Given the description of an element on the screen output the (x, y) to click on. 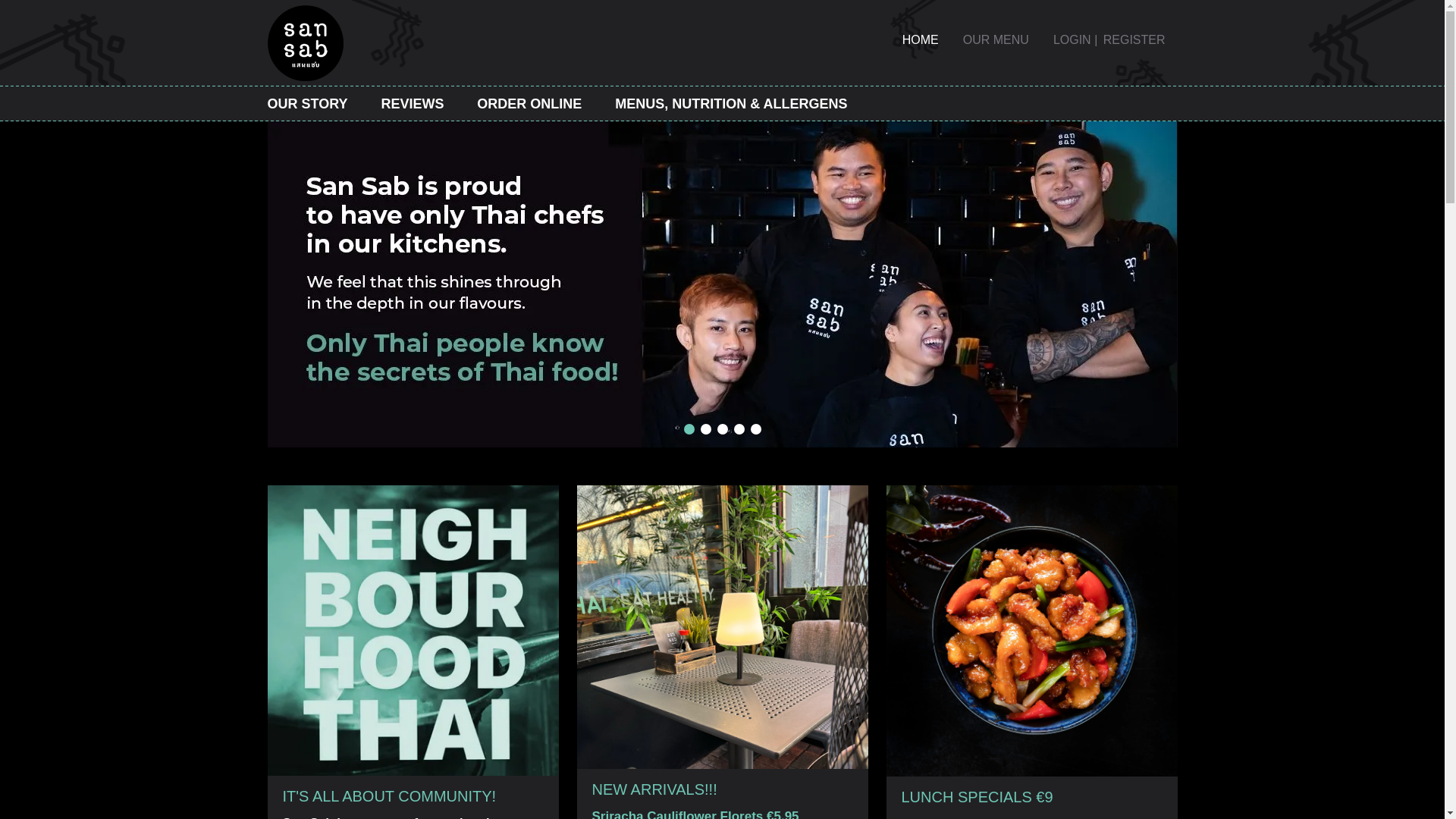
San Sab (304, 42)
ORDER ONLINE (528, 103)
LOGIN REGISTER (1109, 39)
OUR STORY (306, 103)
REVIEWS (412, 103)
HOME (919, 39)
OUR MENU (995, 39)
San Sab (919, 39)
